Given the description of an element on the screen output the (x, y) to click on. 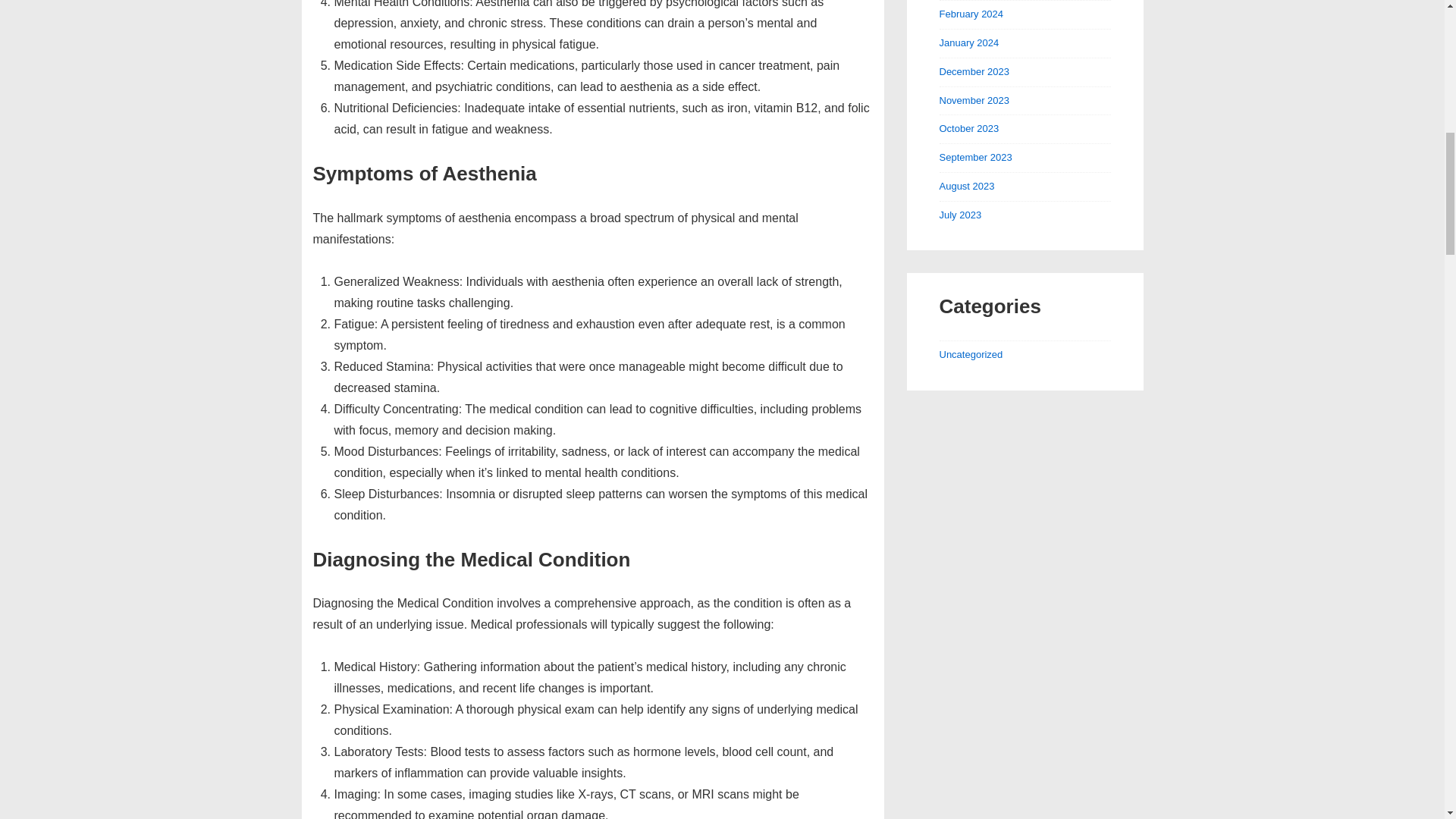
December 2023 (974, 71)
July 2023 (960, 214)
October 2023 (968, 128)
November 2023 (974, 99)
August 2023 (966, 185)
Uncategorized (971, 354)
September 2023 (975, 156)
January 2024 (968, 42)
February 2024 (971, 13)
